Given the description of an element on the screen output the (x, y) to click on. 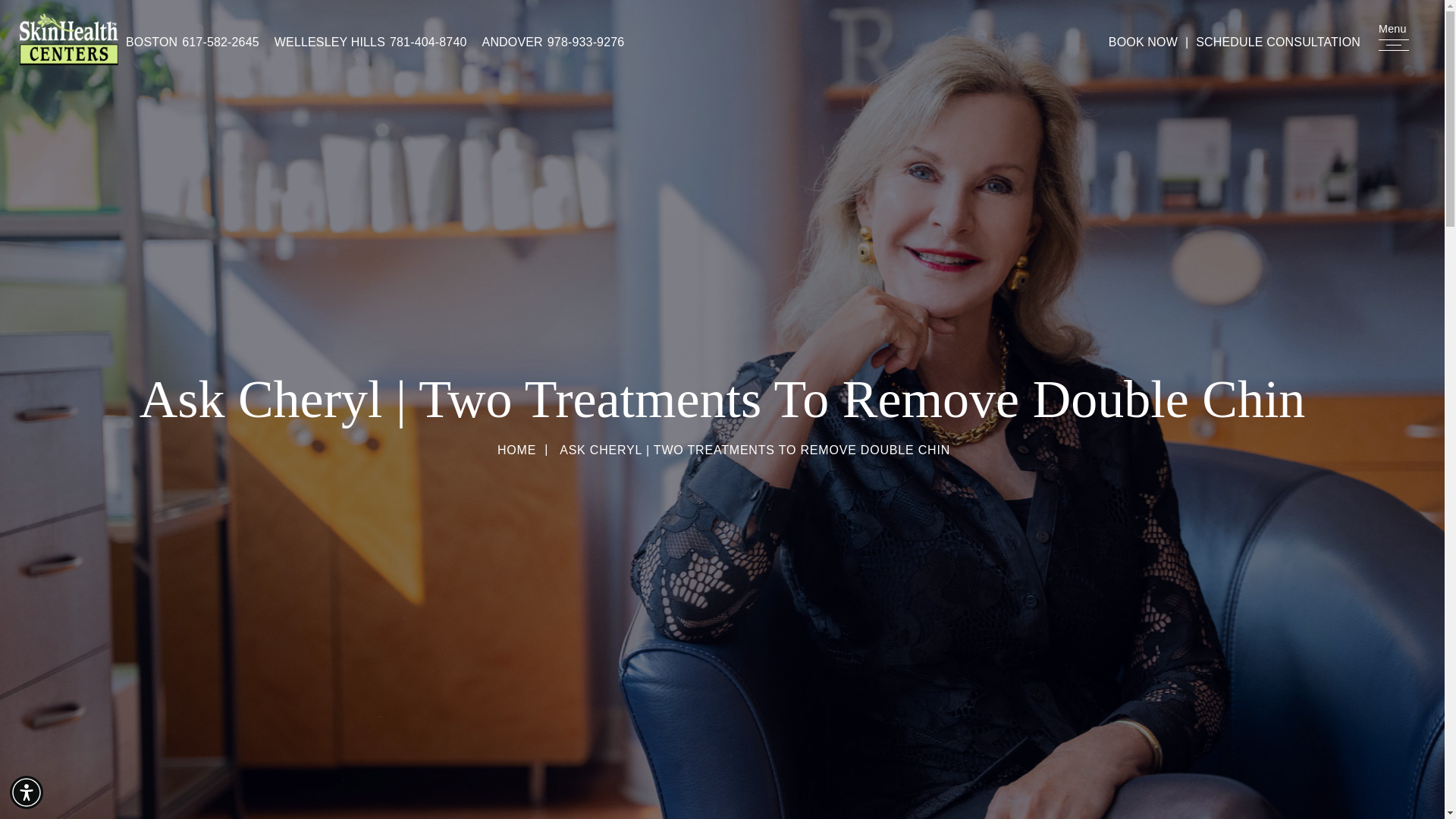
ANDOVER (512, 42)
Menu (1394, 45)
BOSTON (151, 42)
978-933-9276 (583, 42)
SCHEDULE CONSULTATION (1278, 42)
BOOK NOW (1142, 42)
781-404-8740 (426, 42)
Accessibility Menu (26, 792)
617-582-2645 (218, 42)
WELLESLEY HILLS (330, 42)
